Given the description of an element on the screen output the (x, y) to click on. 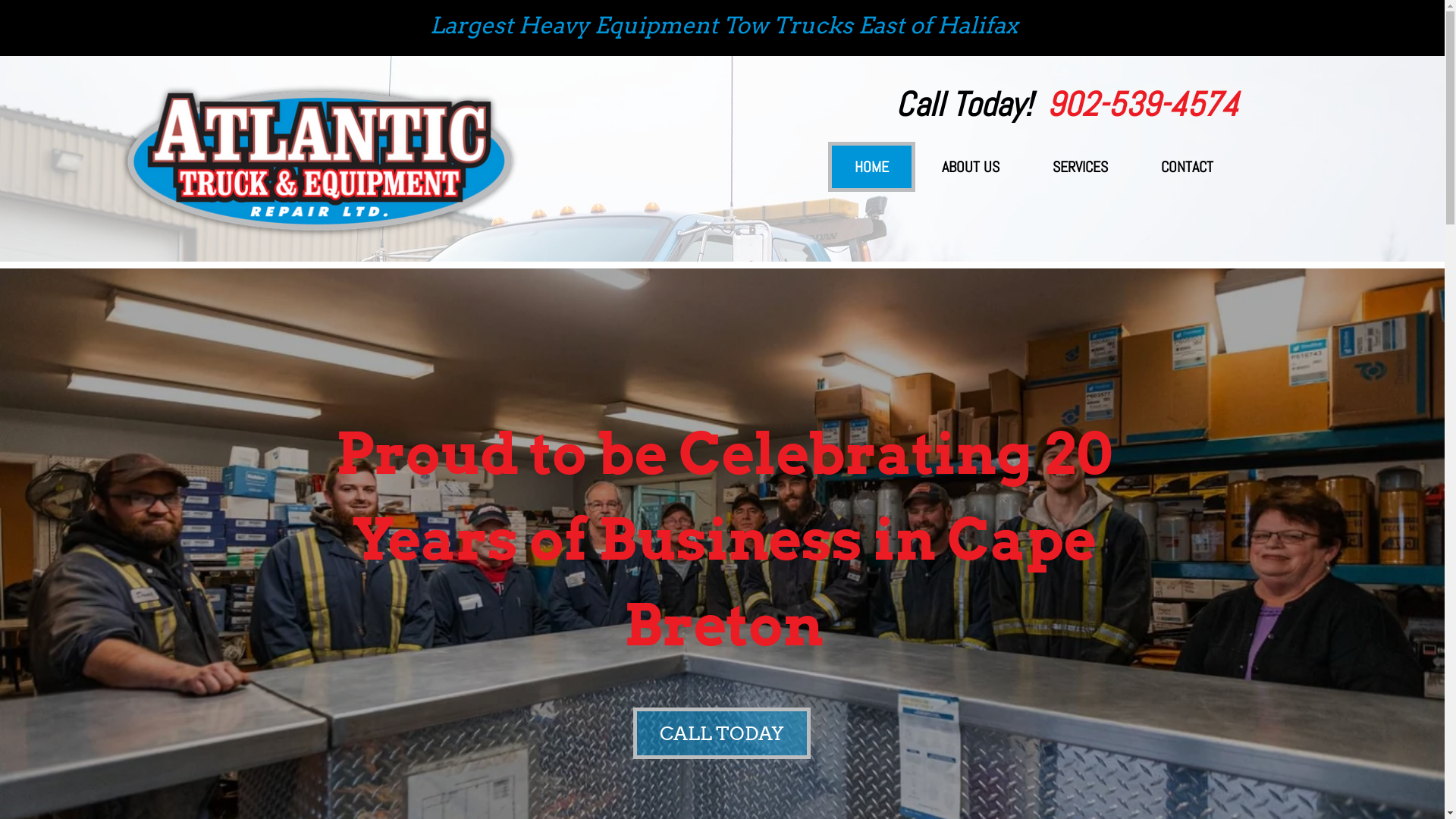
HOME Element type: text (871, 166)
CONTACT Element type: text (1186, 166)
CALL TODAY Element type: text (720, 733)
902-539-4574 Element type: text (1142, 111)
SERVICES Element type: text (1080, 166)
ABOUT US Element type: text (970, 166)
